Given the description of an element on the screen output the (x, y) to click on. 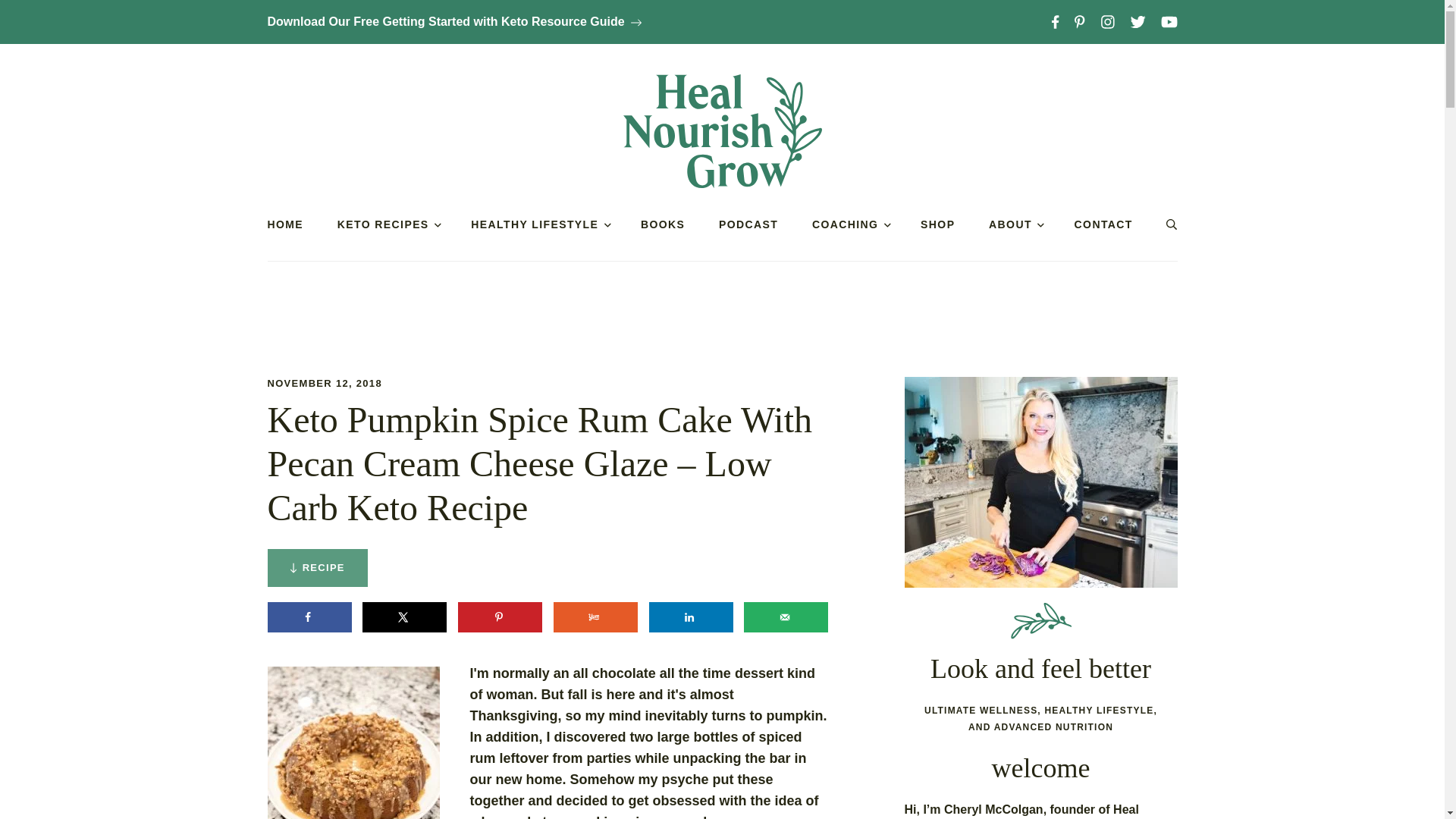
Share on Facebook (308, 616)
Send over email (786, 616)
Save to Pinterest (499, 616)
YouTube (1169, 21)
KETO RECIPES (387, 224)
Pinterest (1080, 21)
Share on X (404, 616)
HEALTHY LIFESTYLE (538, 224)
BOOKS (661, 224)
Pinterest (1080, 21)
